Given the description of an element on the screen output the (x, y) to click on. 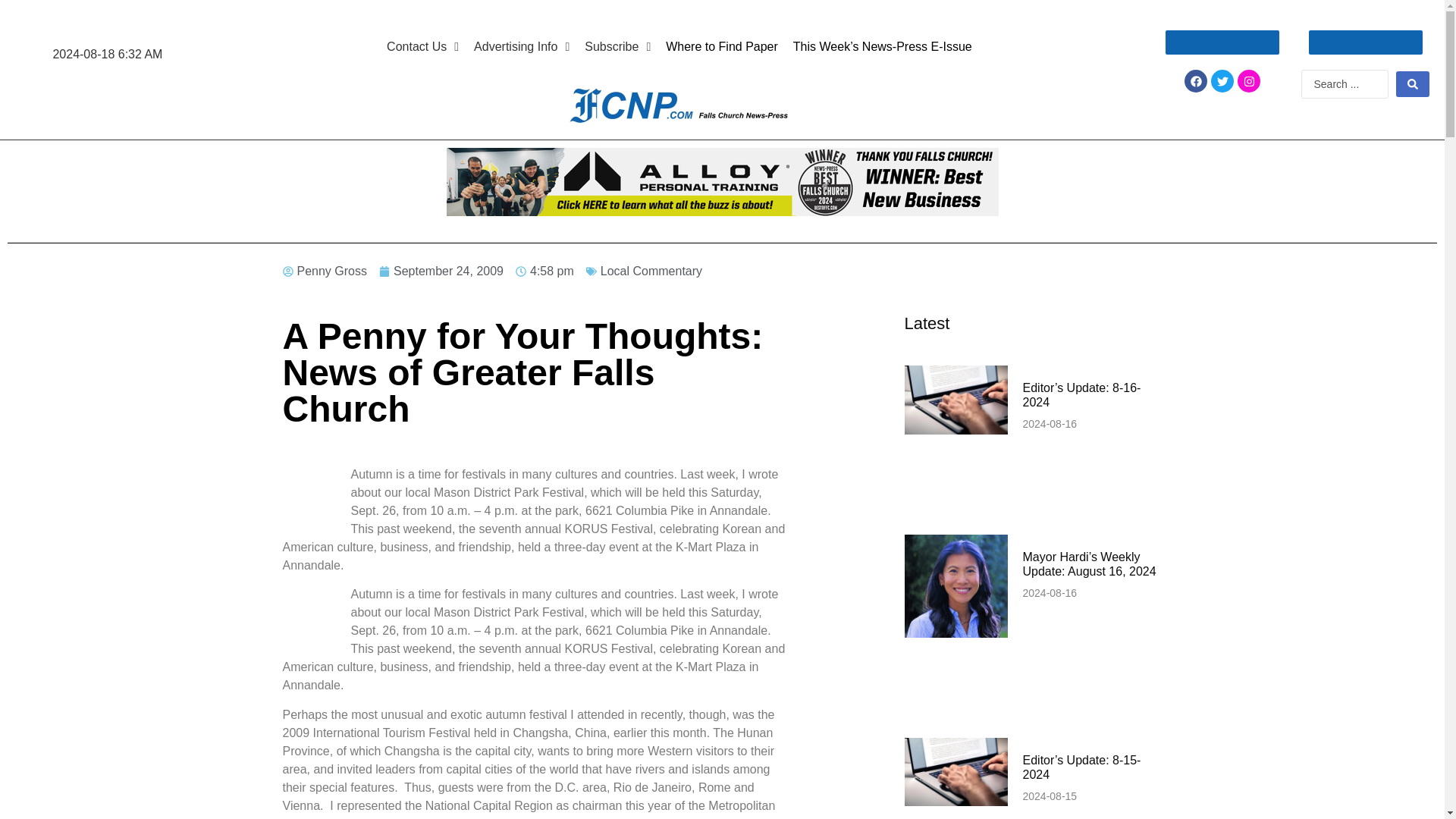
September 24, 2009 (440, 271)
Contact Us (421, 46)
Penny Gross (324, 271)
Advertising Info (520, 46)
Subscribe (617, 46)
Local Commentary (650, 270)
Where to Find Paper (722, 46)
